Given the description of an element on the screen output the (x, y) to click on. 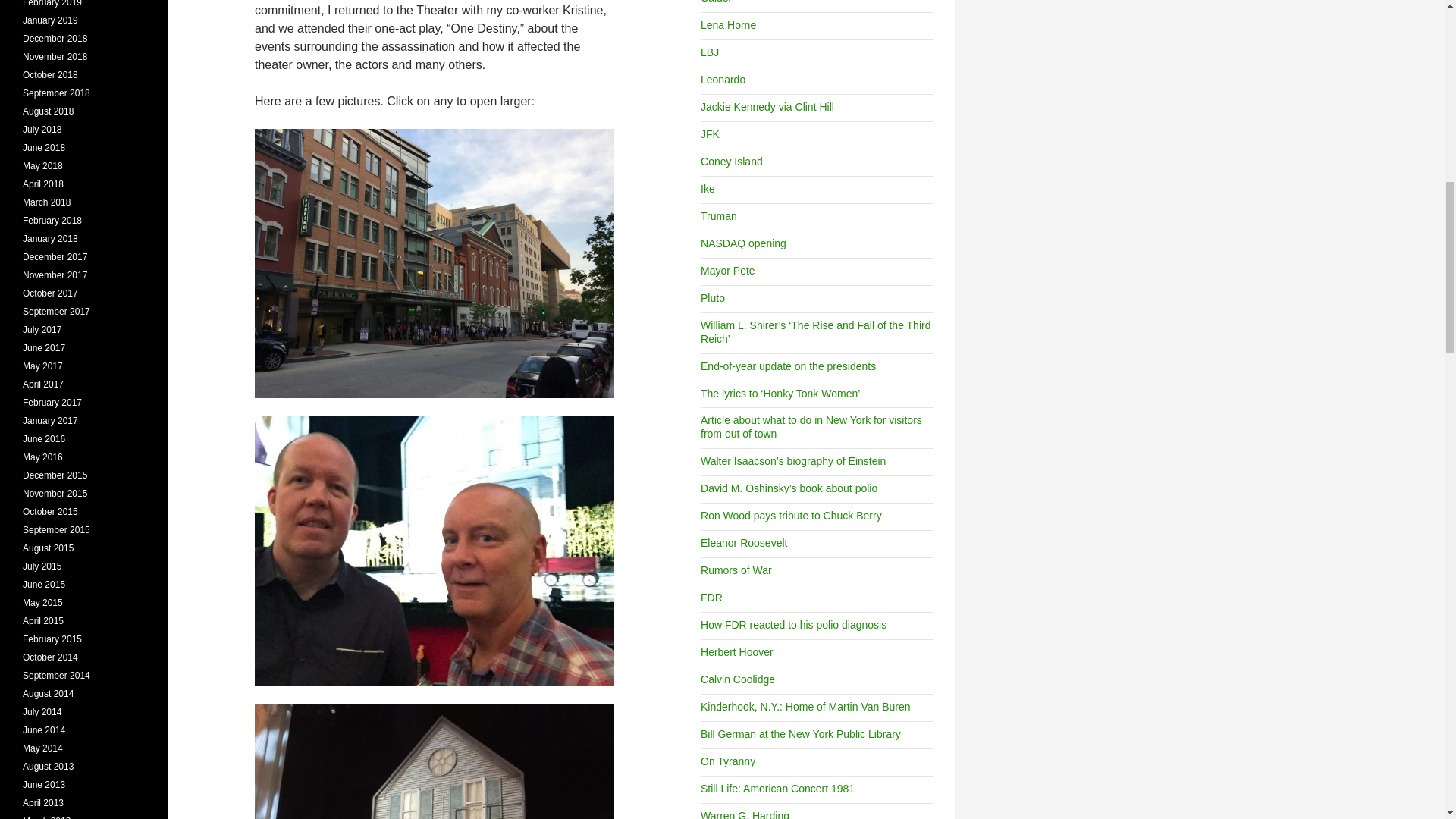
Lena Horne (727, 24)
LBJ (709, 51)
Calder (716, 2)
Leonardo (722, 79)
